Given the description of an element on the screen output the (x, y) to click on. 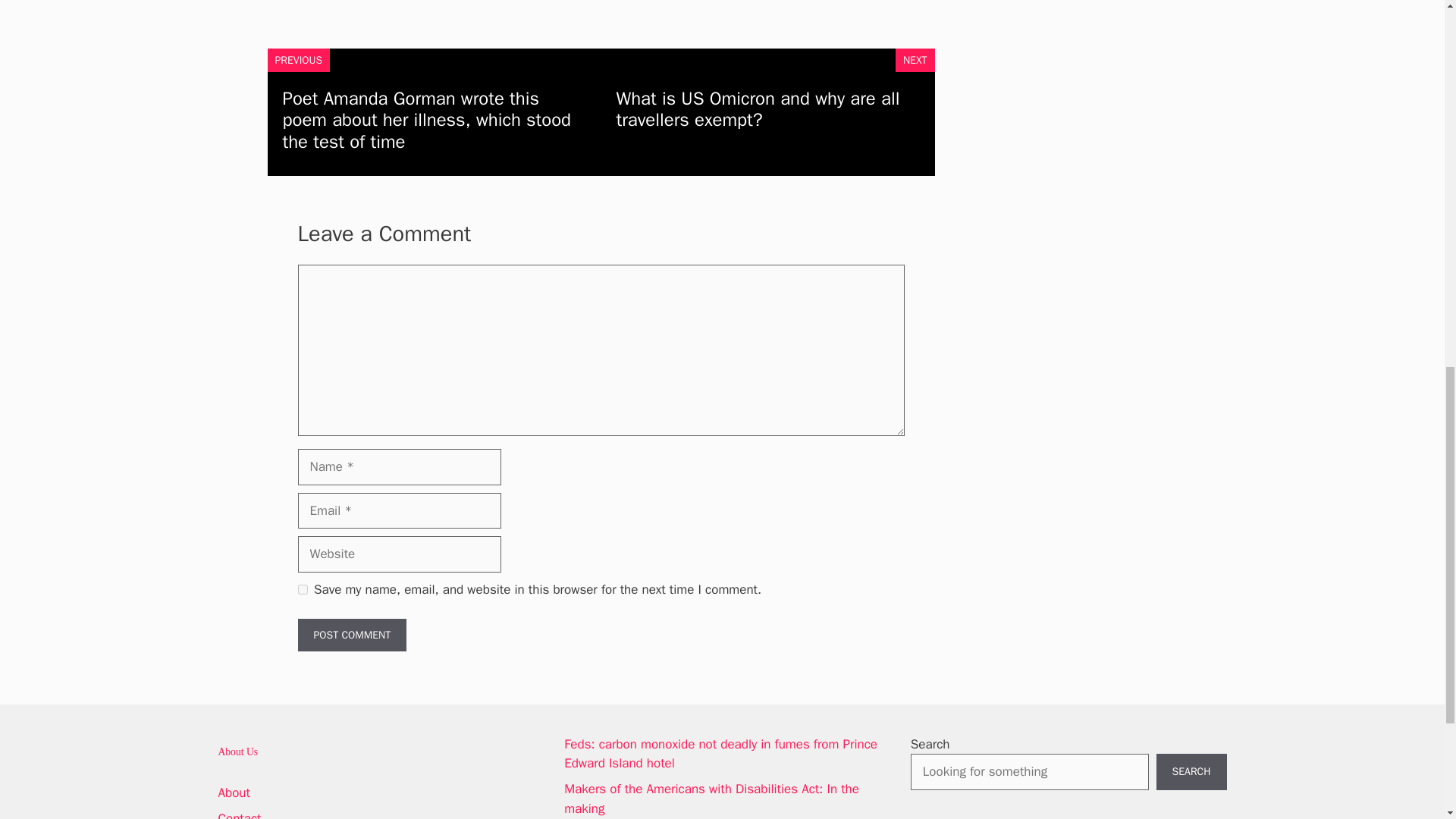
yes (302, 589)
Post Comment (351, 635)
research (399, 0)
What is US Omicron and why are all travellers exempt? (757, 108)
About (234, 792)
Post Comment (351, 635)
nobel prizes (343, 0)
